Given the description of an element on the screen output the (x, y) to click on. 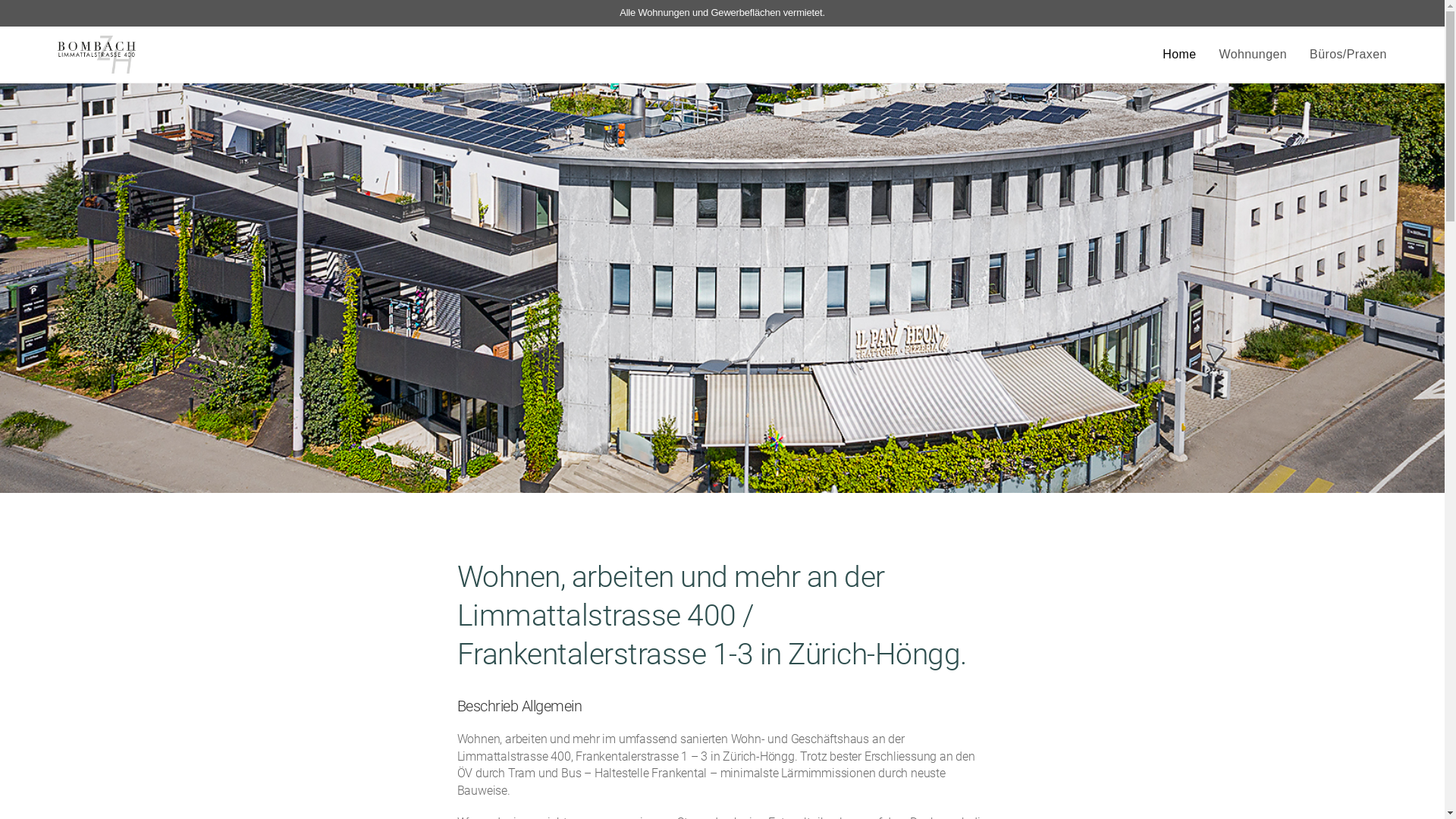
Wohnungen Element type: text (1252, 54)
Home Element type: text (1179, 54)
